Given the description of an element on the screen output the (x, y) to click on. 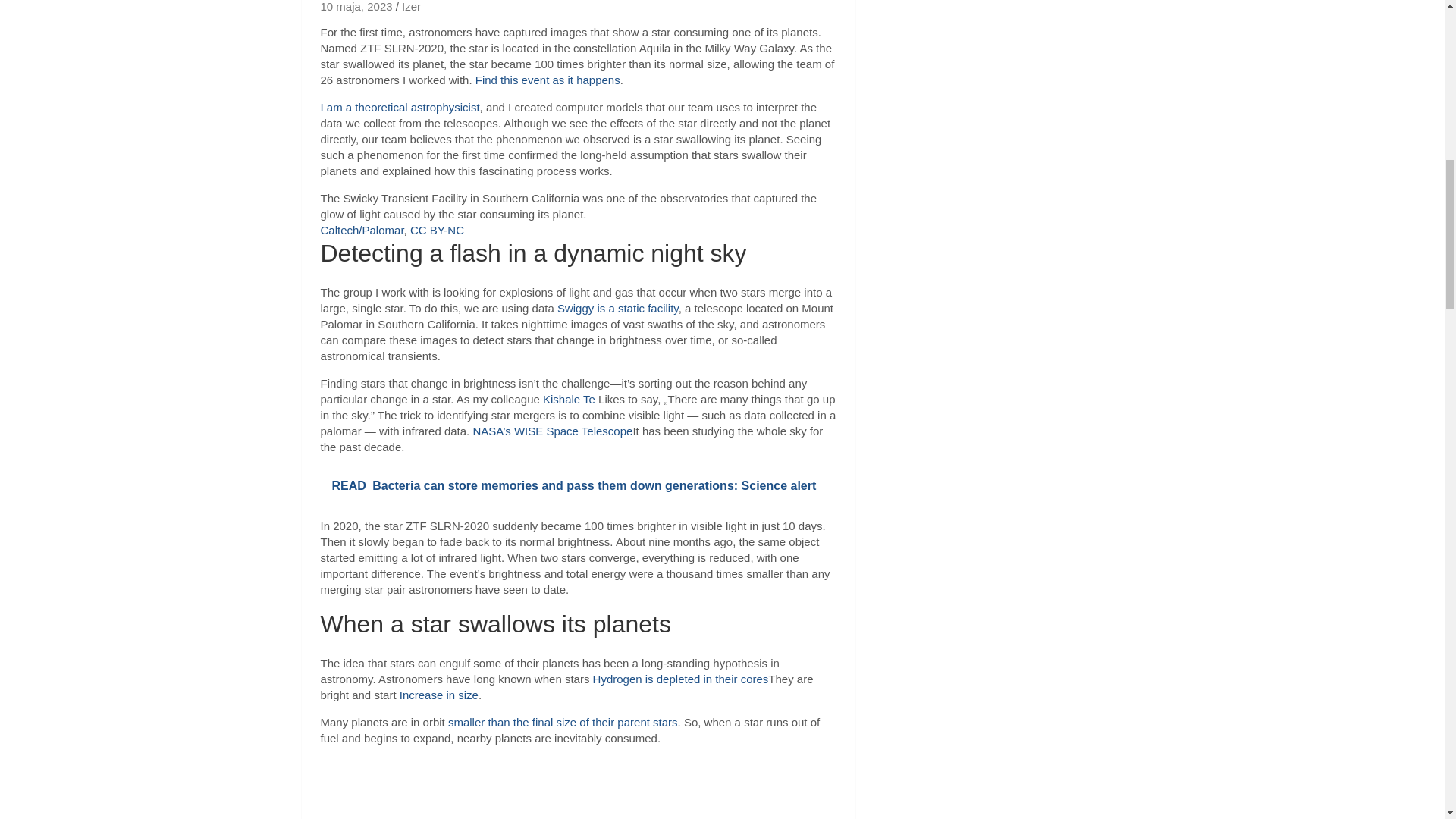
Kishale Te (569, 399)
10 maja, 2023 (355, 7)
Izer (410, 7)
CC BY-NC (437, 229)
Find this event as it happens (548, 79)
smaller than the final size of their parent stars (563, 721)
I am a theoretical astrophysicist (399, 106)
Swiggy is a static facility (617, 308)
Increase in size (438, 694)
Hydrogen is depleted in their cores (680, 678)
